Given the description of an element on the screen output the (x, y) to click on. 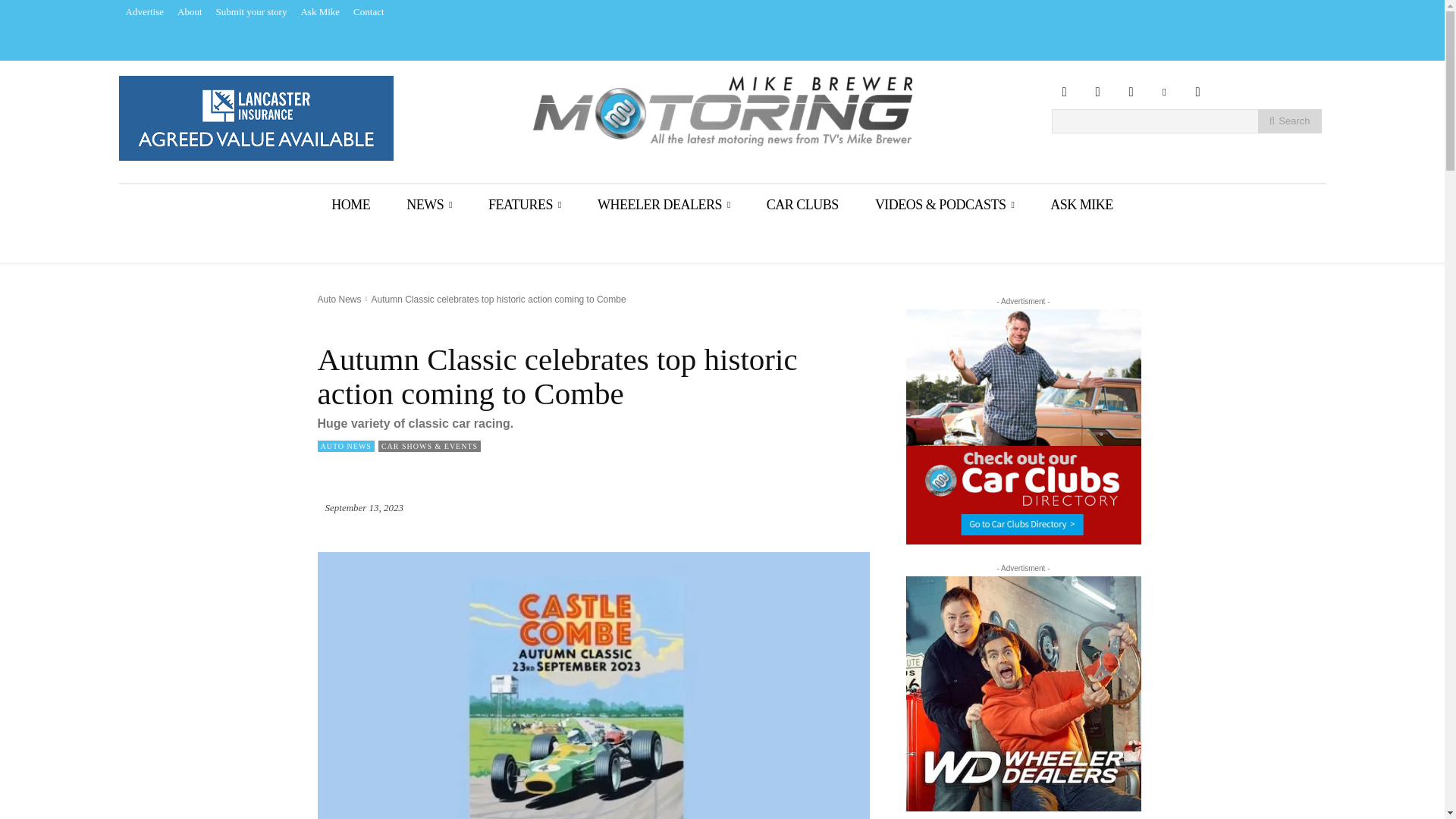
Facebook (1064, 92)
Soundcloud (1130, 92)
Instagram (1096, 92)
Twitter (1163, 92)
Youtube (1197, 92)
Advertise (143, 12)
